Given the description of an element on the screen output the (x, y) to click on. 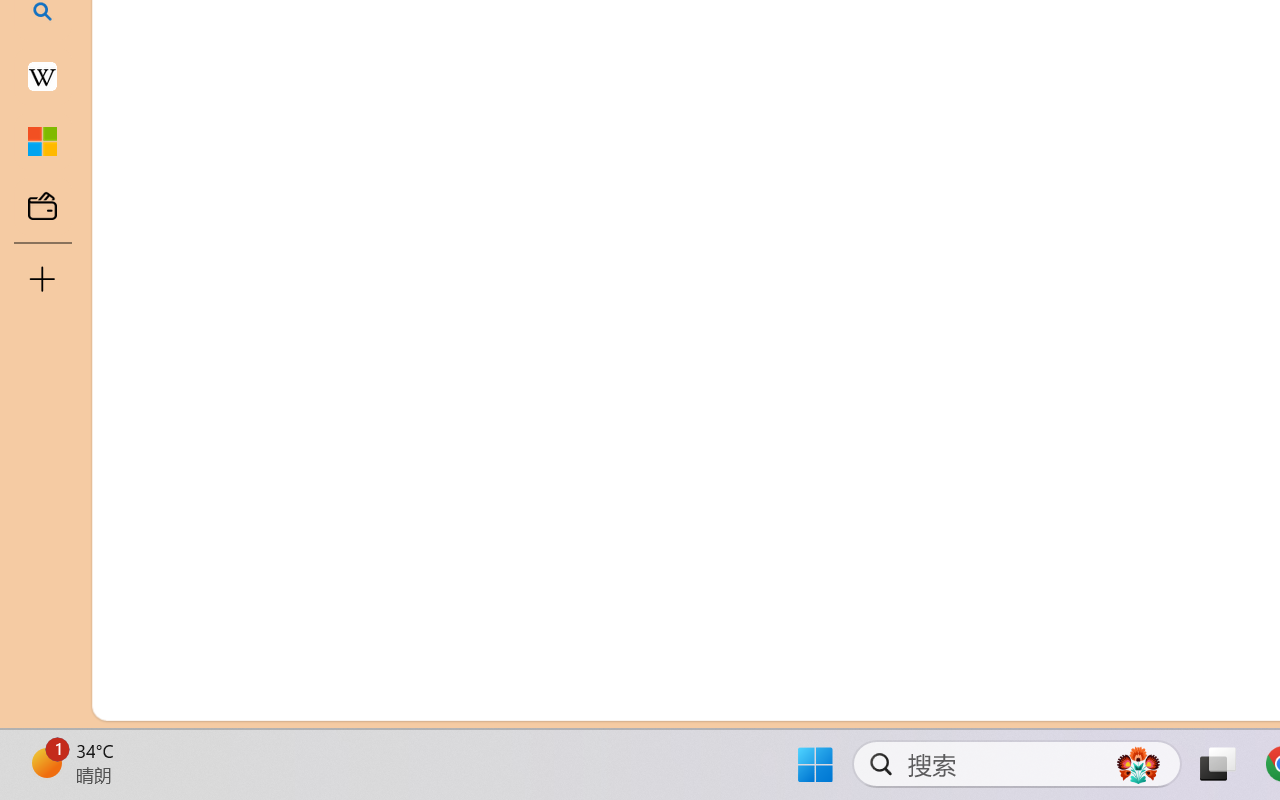
Timeline Section (331, 658)
Accounts - Sign in requested (135, 548)
Terminal (Ctrl+`) (1021, 243)
Output (Ctrl+Shift+U) (696, 243)
Ports - 5 forwarded ports (1162, 243)
Problems (Ctrl+Shift+M) (567, 243)
Manage (135, 635)
Outline Section (331, 619)
